Given the description of an element on the screen output the (x, y) to click on. 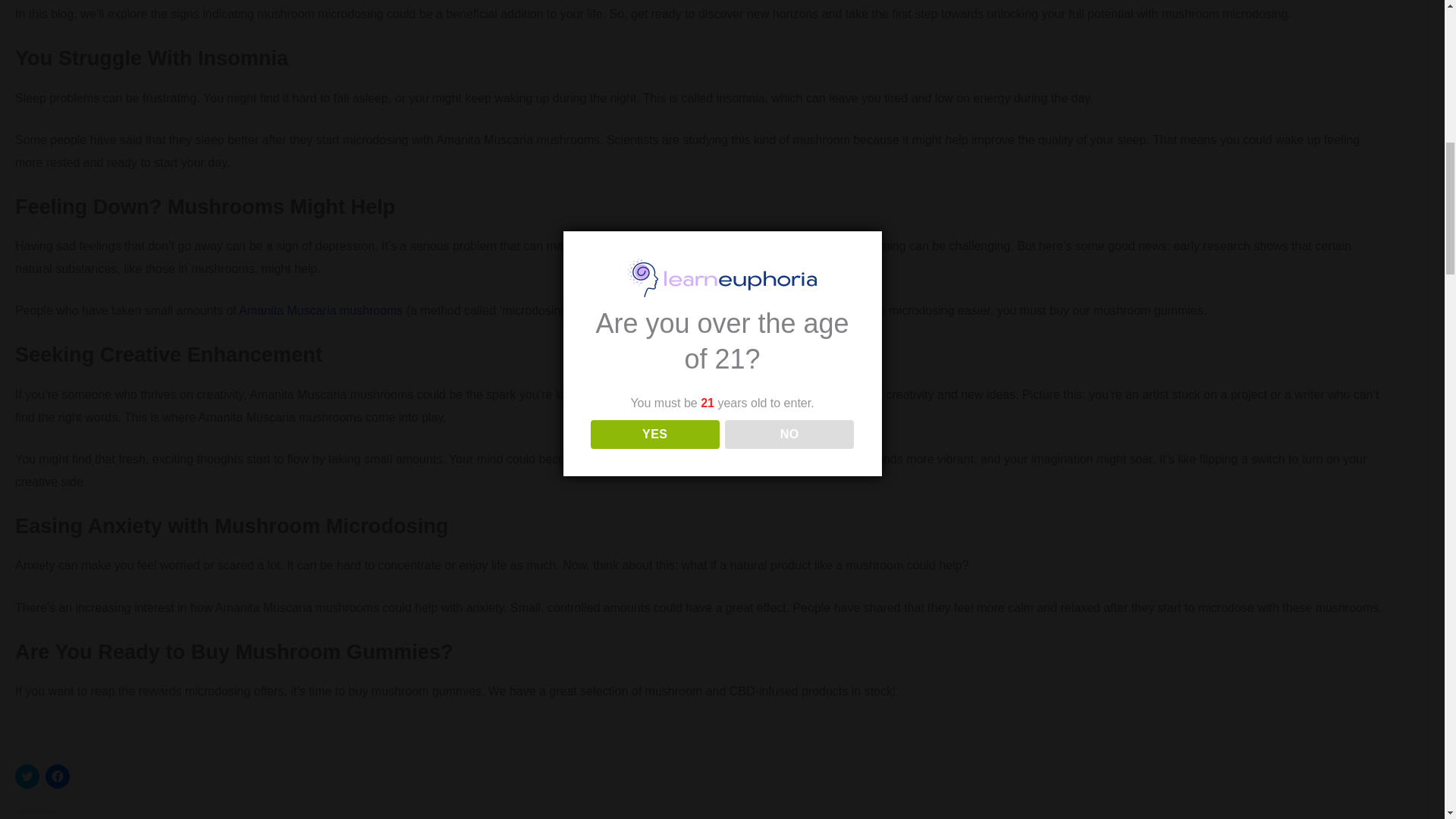
Click to share on Twitter (26, 776)
Click to share on Facebook (57, 776)
